Given the description of an element on the screen output the (x, y) to click on. 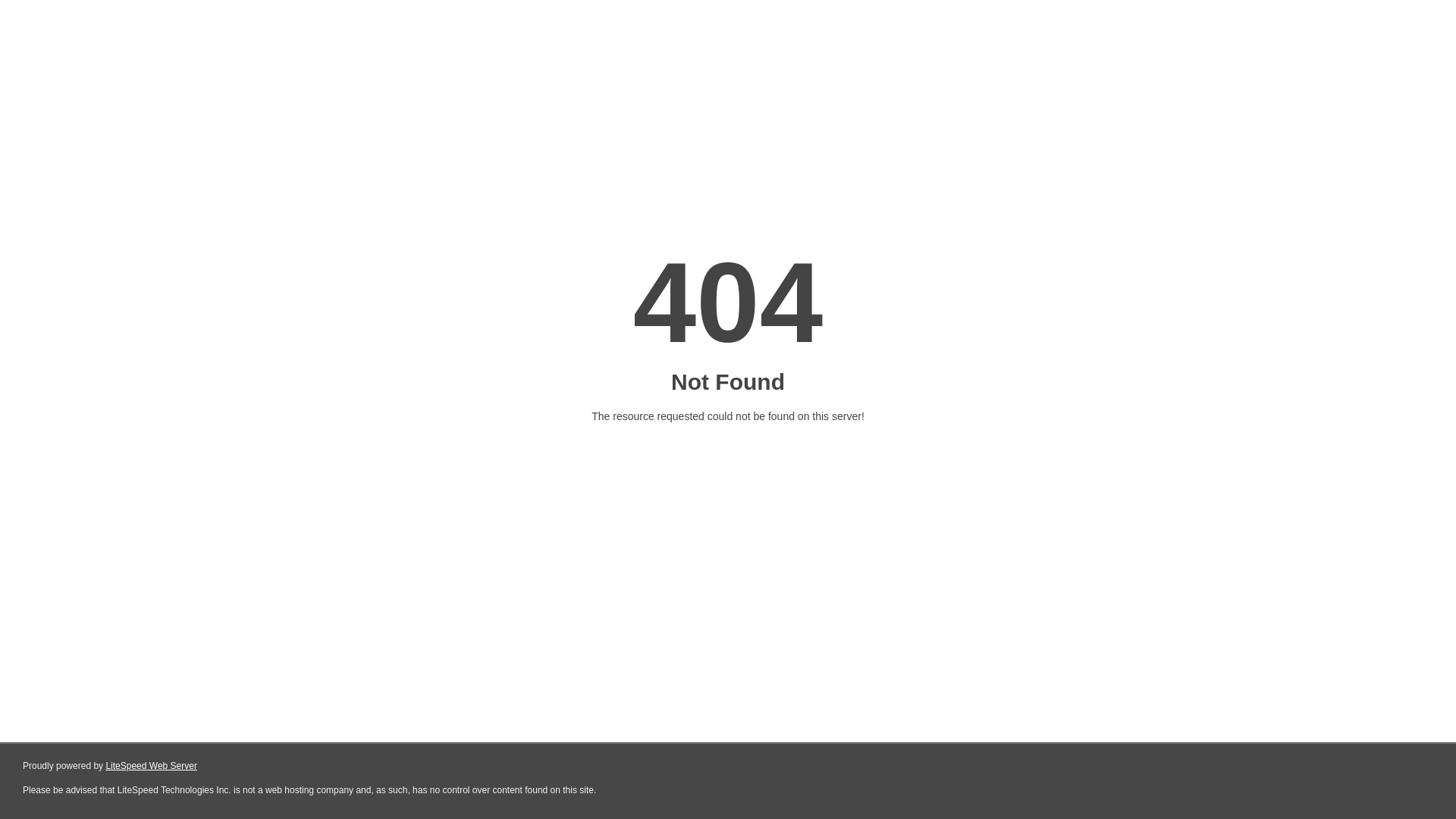
LiteSpeed Web Server Element type: text (151, 765)
